Given the description of an element on the screen output the (x, y) to click on. 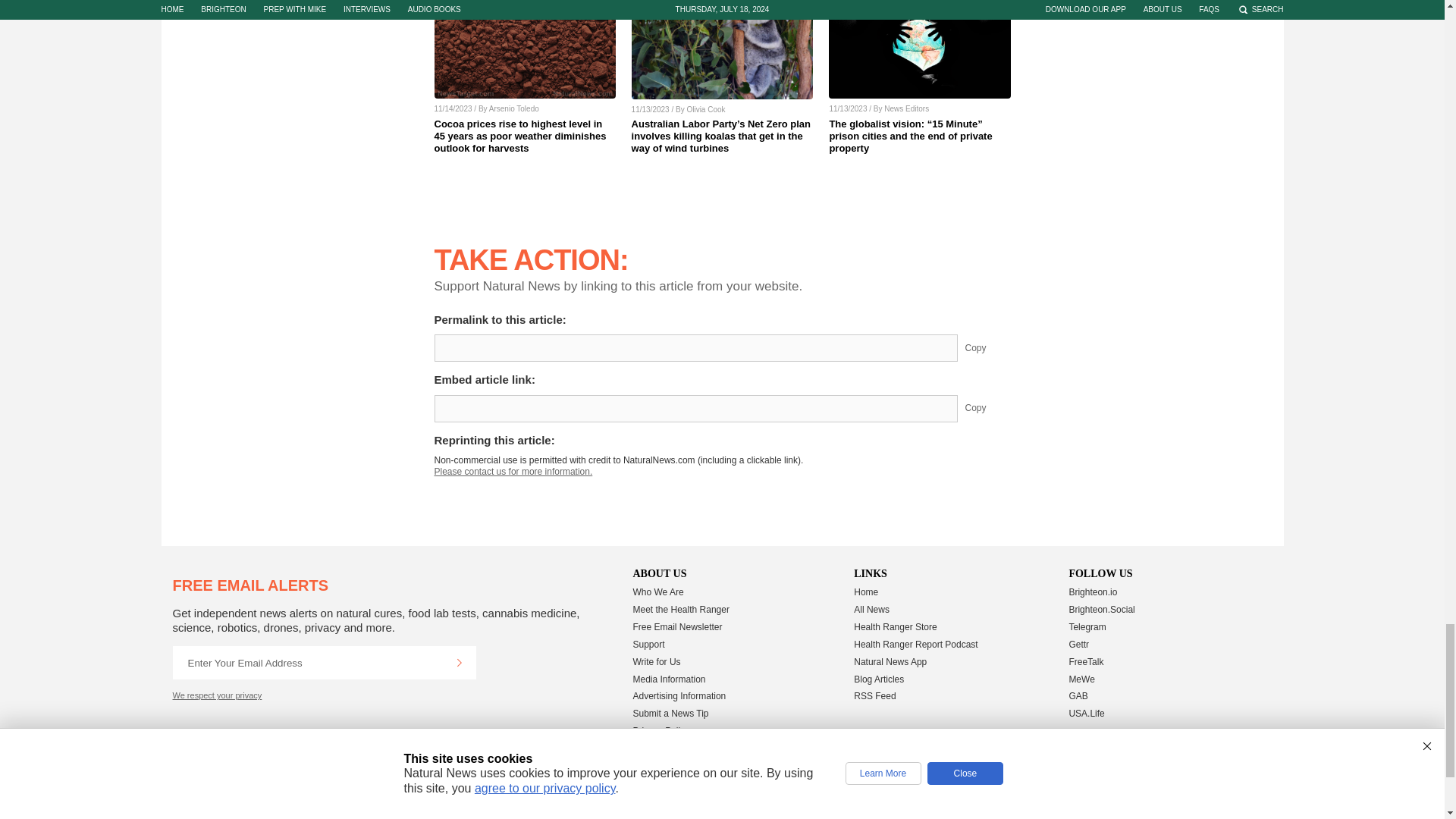
Continue (459, 662)
Copy Embed Link (986, 408)
eTrust Pro Certified (829, 808)
Copy Permalink (986, 347)
